Given the description of an element on the screen output the (x, y) to click on. 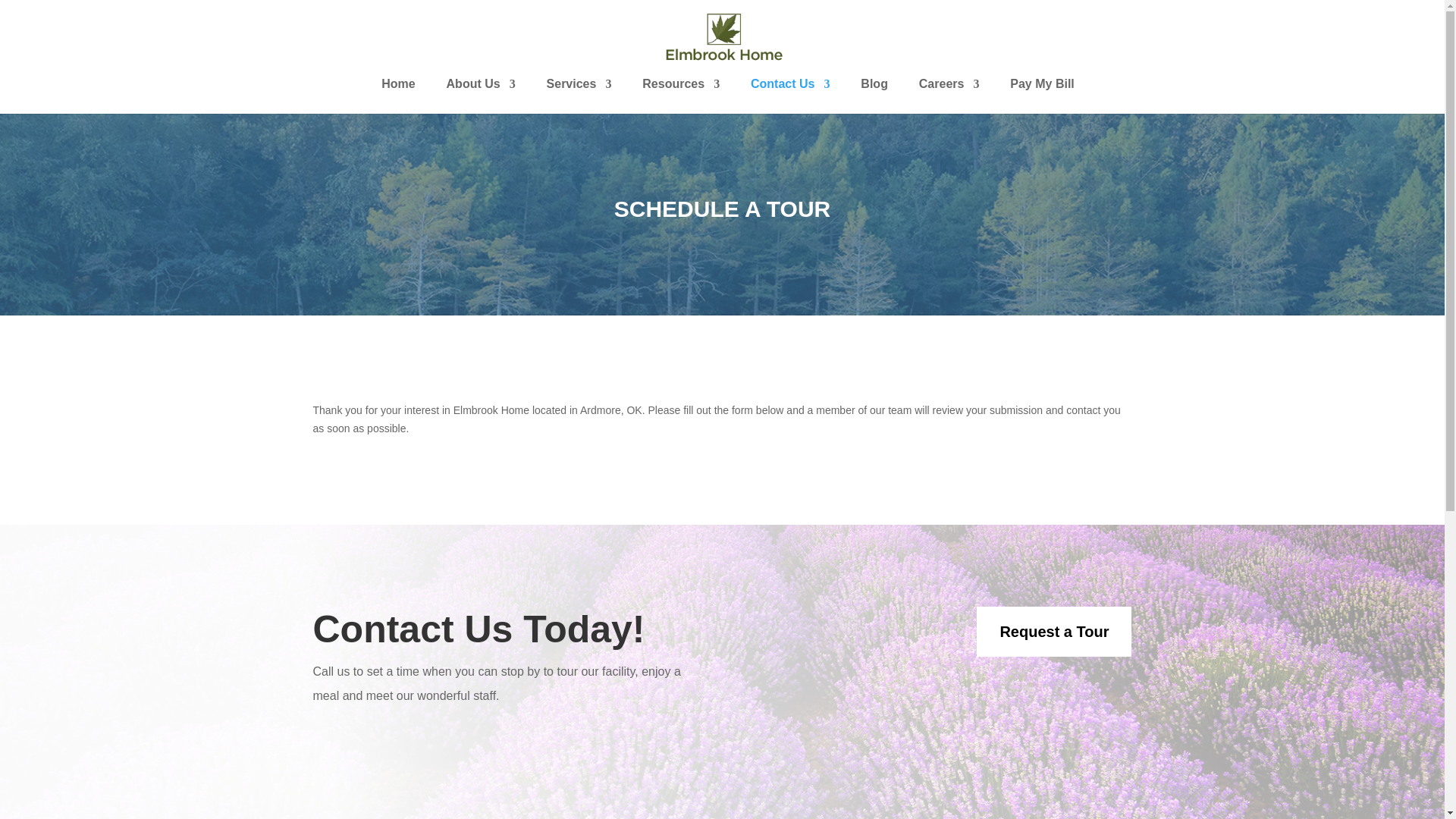
Resources (680, 95)
Home (397, 95)
Careers (948, 95)
Pay My Bill (1042, 95)
Contact Us (790, 95)
Services (579, 95)
Request a Tour (1053, 631)
About Us (480, 95)
